Given the description of an element on the screen output the (x, y) to click on. 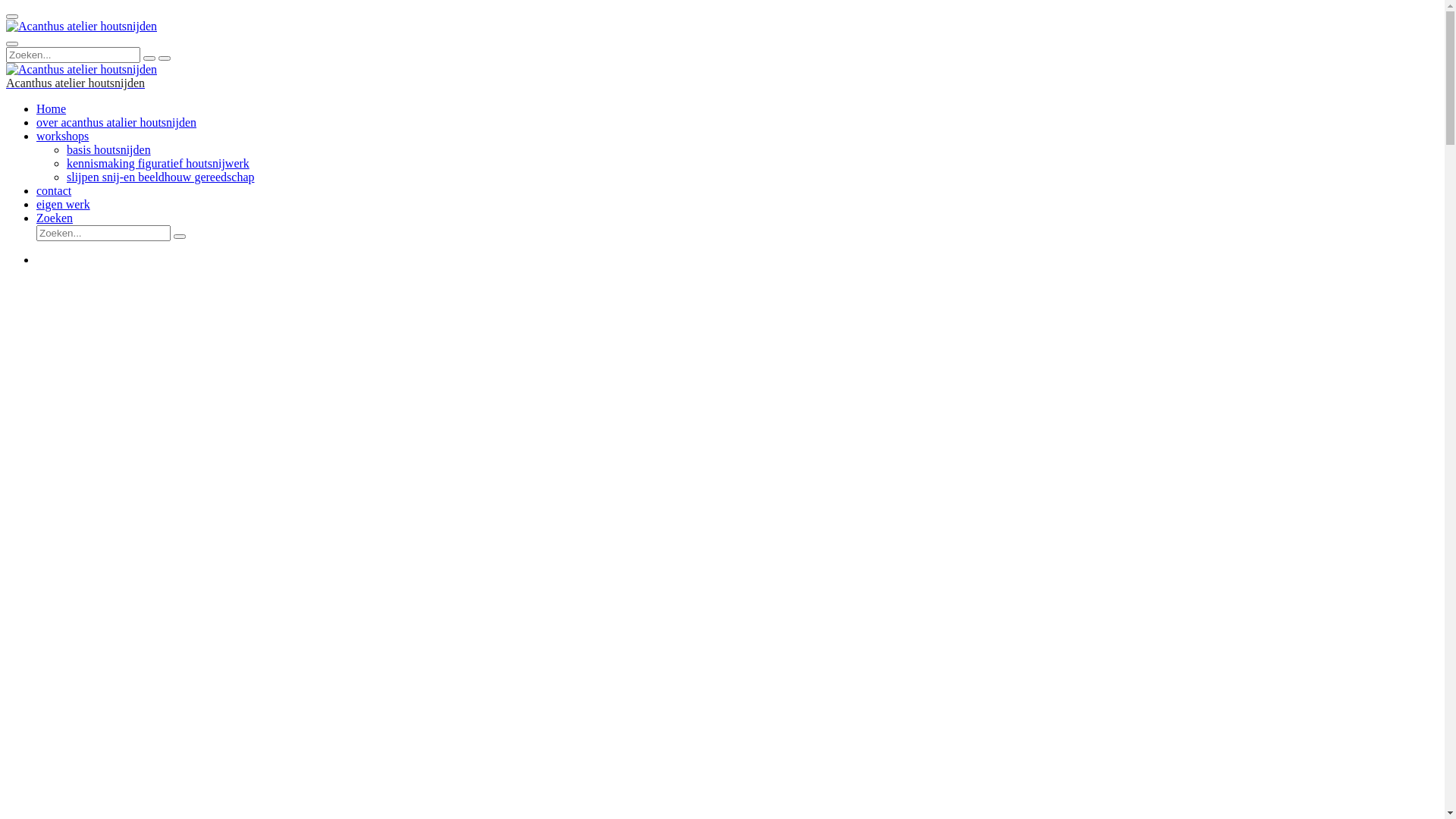
Zoeken Element type: text (54, 217)
Acanthus atelier houtsnijden Element type: hover (81, 26)
eigen werk Element type: text (63, 203)
Home Element type: text (50, 108)
workshops Element type: text (62, 135)
contact Element type: text (53, 190)
kennismaking figuratief houtsnijwerk Element type: text (157, 162)
Acanthus atelier houtsnijden Element type: hover (81, 69)
basis houtsnijden Element type: text (108, 149)
Acanthus atelier houtsnijden Element type: text (75, 82)
over acanthus atalier houtsnijden Element type: text (116, 122)
slijpen snij-en beeldhouw gereedschap Element type: text (160, 176)
